Given the description of an element on the screen output the (x, y) to click on. 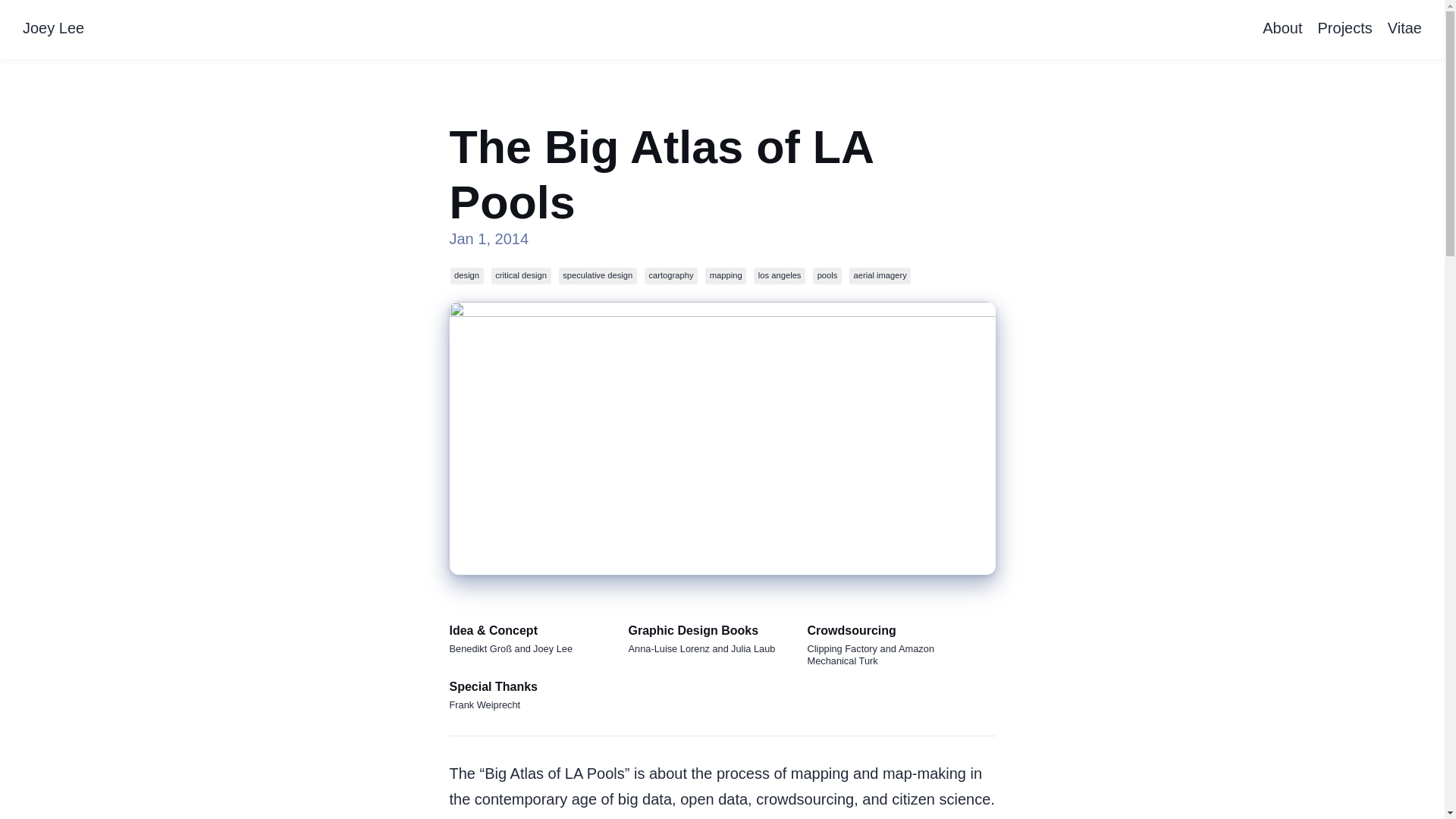
Projects (1345, 29)
About (1281, 29)
Joey Lee (52, 29)
